Given the description of an element on the screen output the (x, y) to click on. 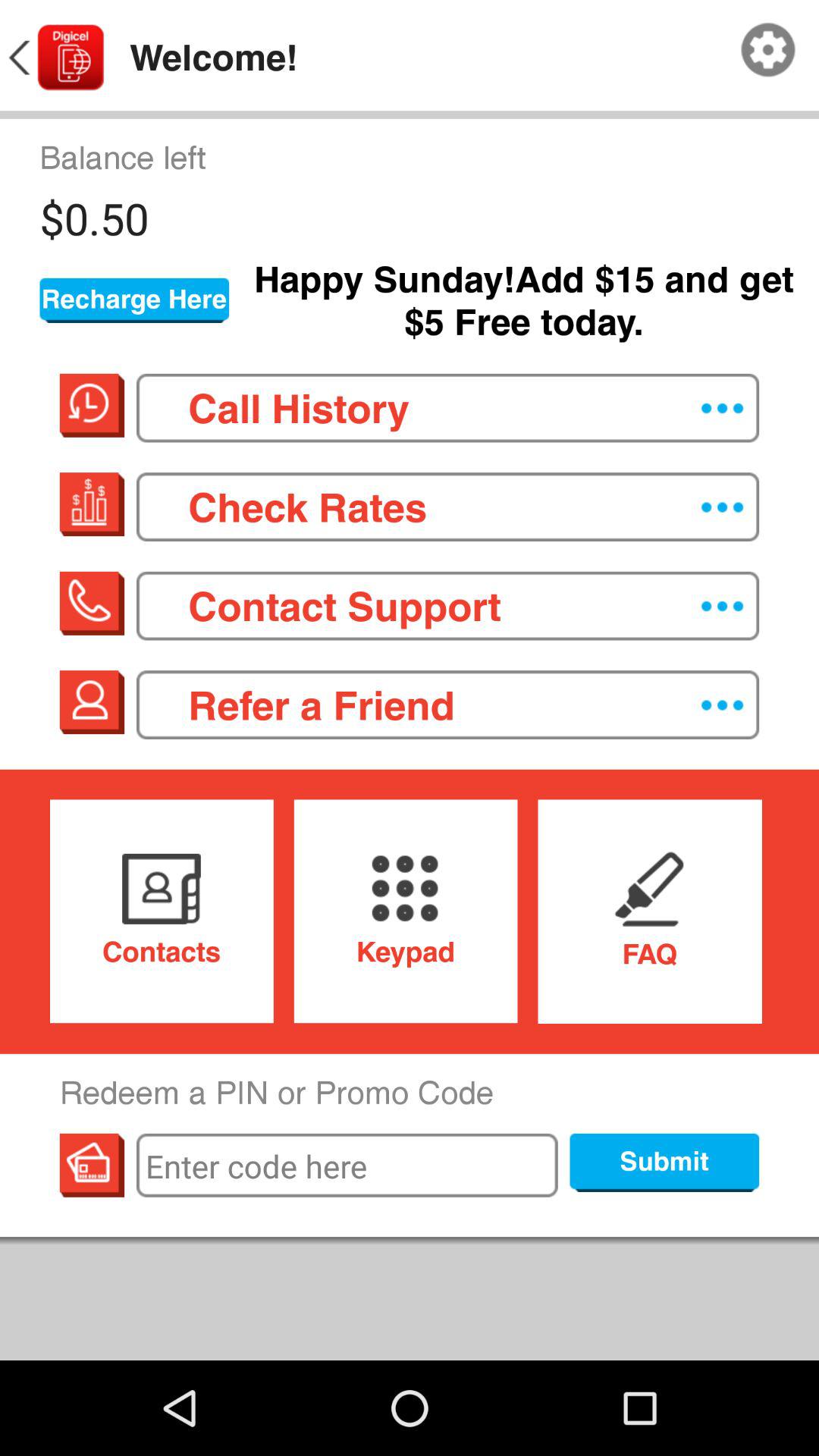
select item next to welcome! item (768, 49)
